Given the description of an element on the screen output the (x, y) to click on. 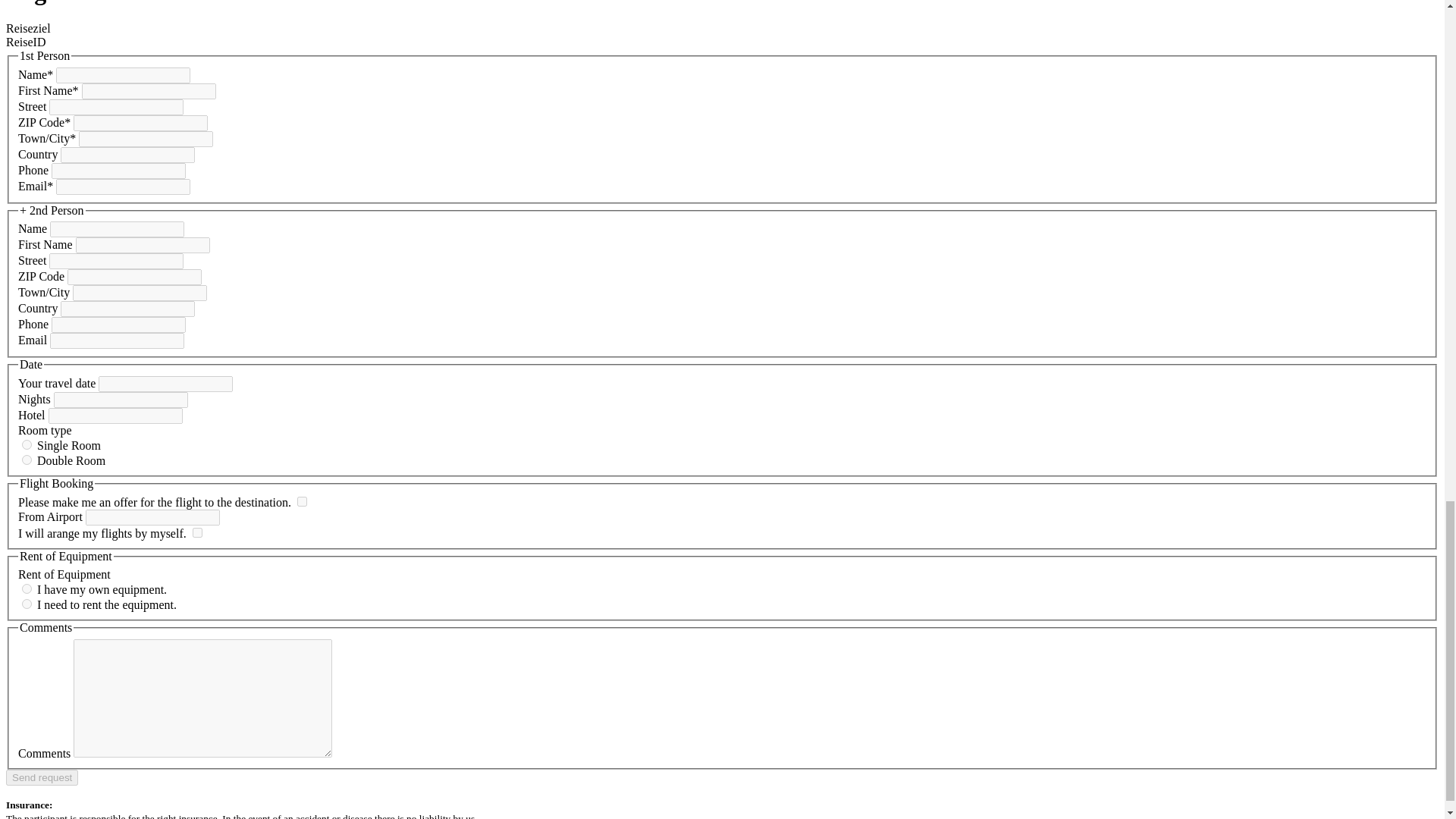
Email (123, 186)
Phone (118, 170)
ZIP Code (141, 123)
Street (116, 107)
ZIP Code (134, 277)
First Name (142, 245)
Single Room (26, 444)
Street (116, 261)
First Name (148, 91)
Name (123, 75)
